Given the description of an element on the screen output the (x, y) to click on. 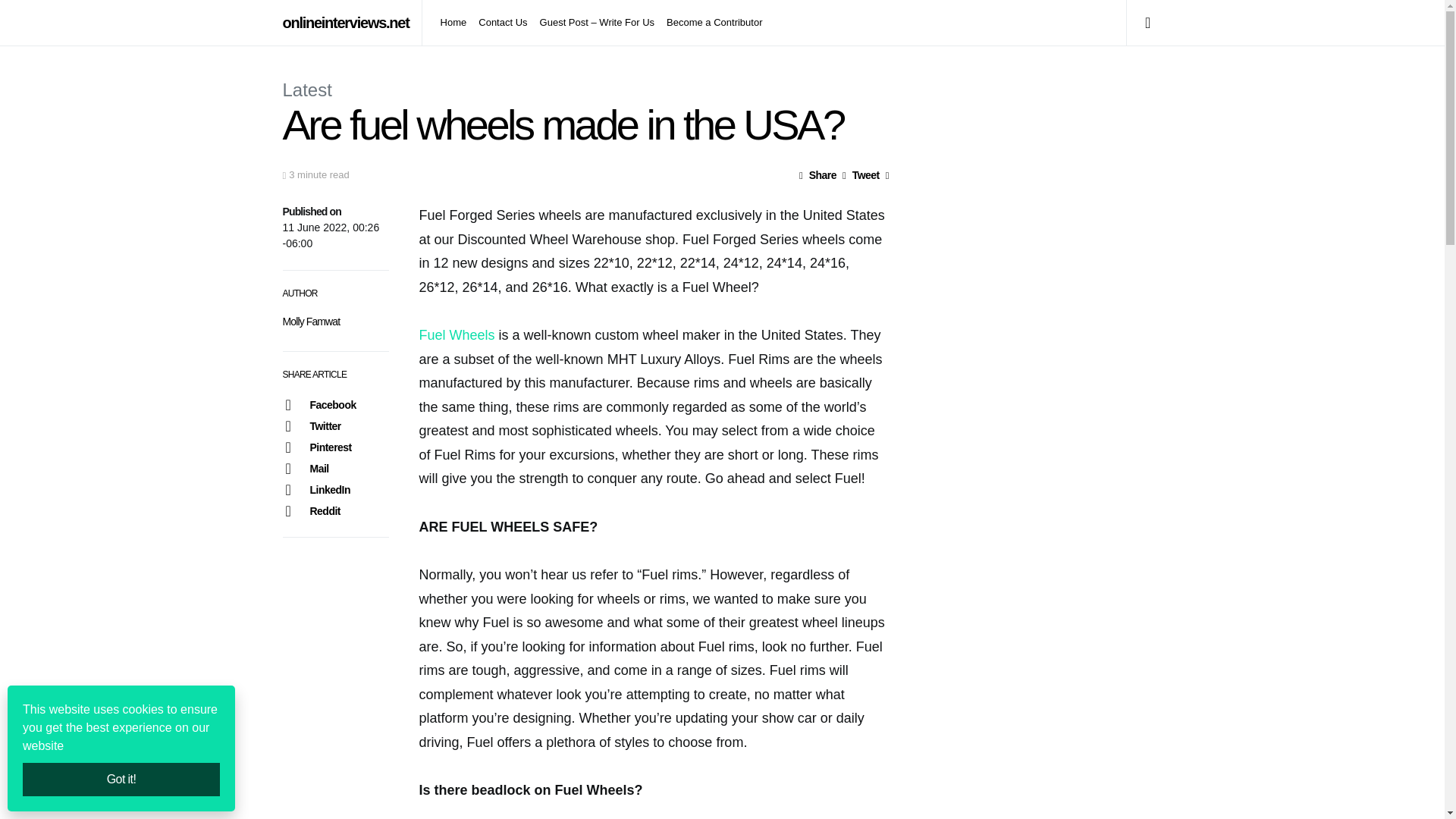
Molly Famwat (310, 321)
Become a Contributor (711, 22)
Fuel Wheels (457, 335)
LinkedIn (335, 489)
Twitter (335, 425)
Contact Us (501, 22)
Tweet (861, 175)
Facebook (335, 404)
Share (818, 175)
Mail (335, 468)
